Given the description of an element on the screen output the (x, y) to click on. 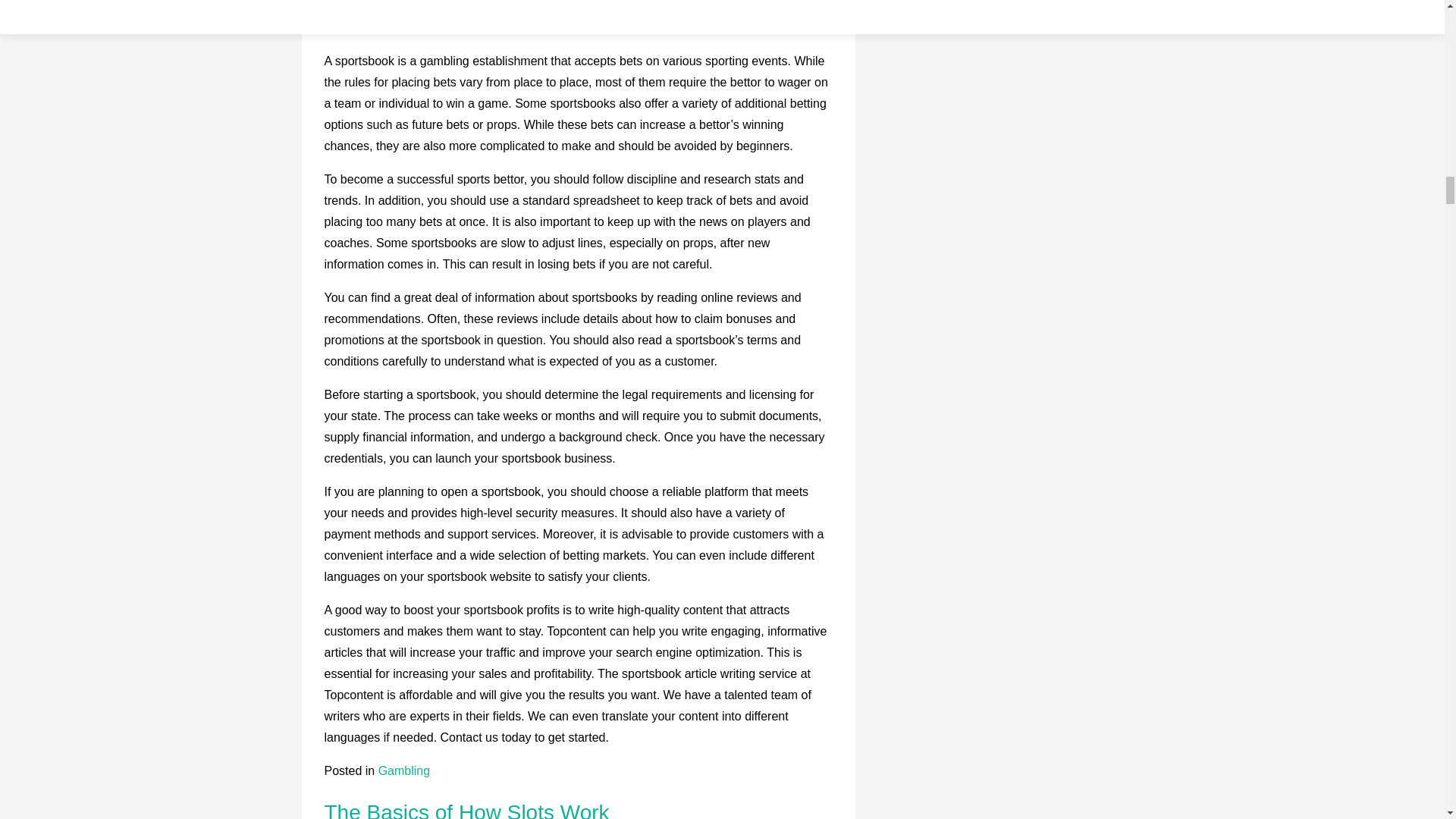
Gambling (403, 770)
Admin (501, 21)
The Basics of How Slots Work (467, 809)
March 24, 2024 (423, 21)
